Given the description of an element on the screen output the (x, y) to click on. 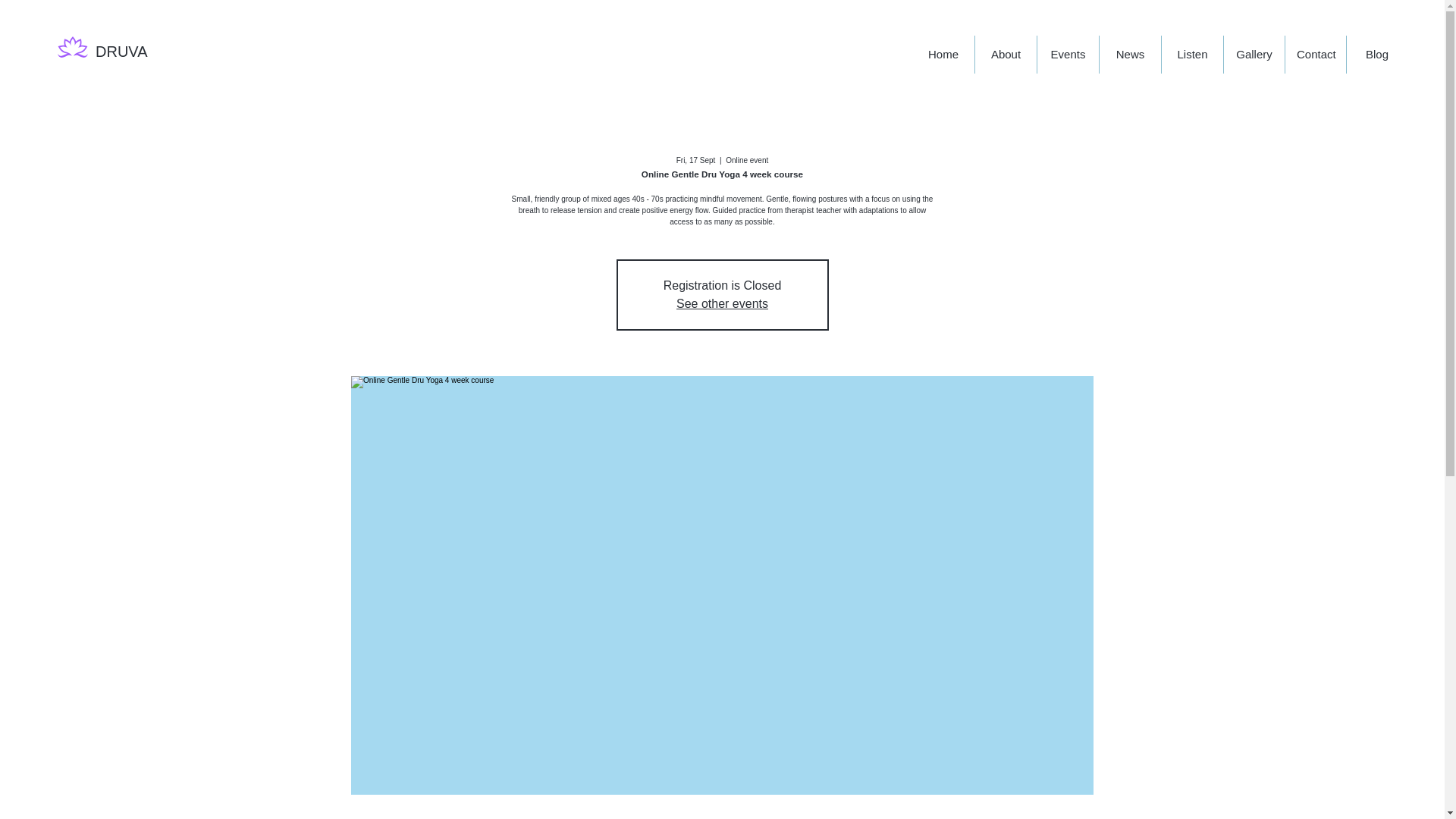
Blog (1376, 54)
Gallery (1253, 54)
Contact (1314, 54)
Listen (1191, 54)
Events (1067, 54)
DRUVA (122, 51)
News (1129, 54)
Home (943, 54)
About (1005, 54)
See other events (722, 303)
